Given the description of an element on the screen output the (x, y) to click on. 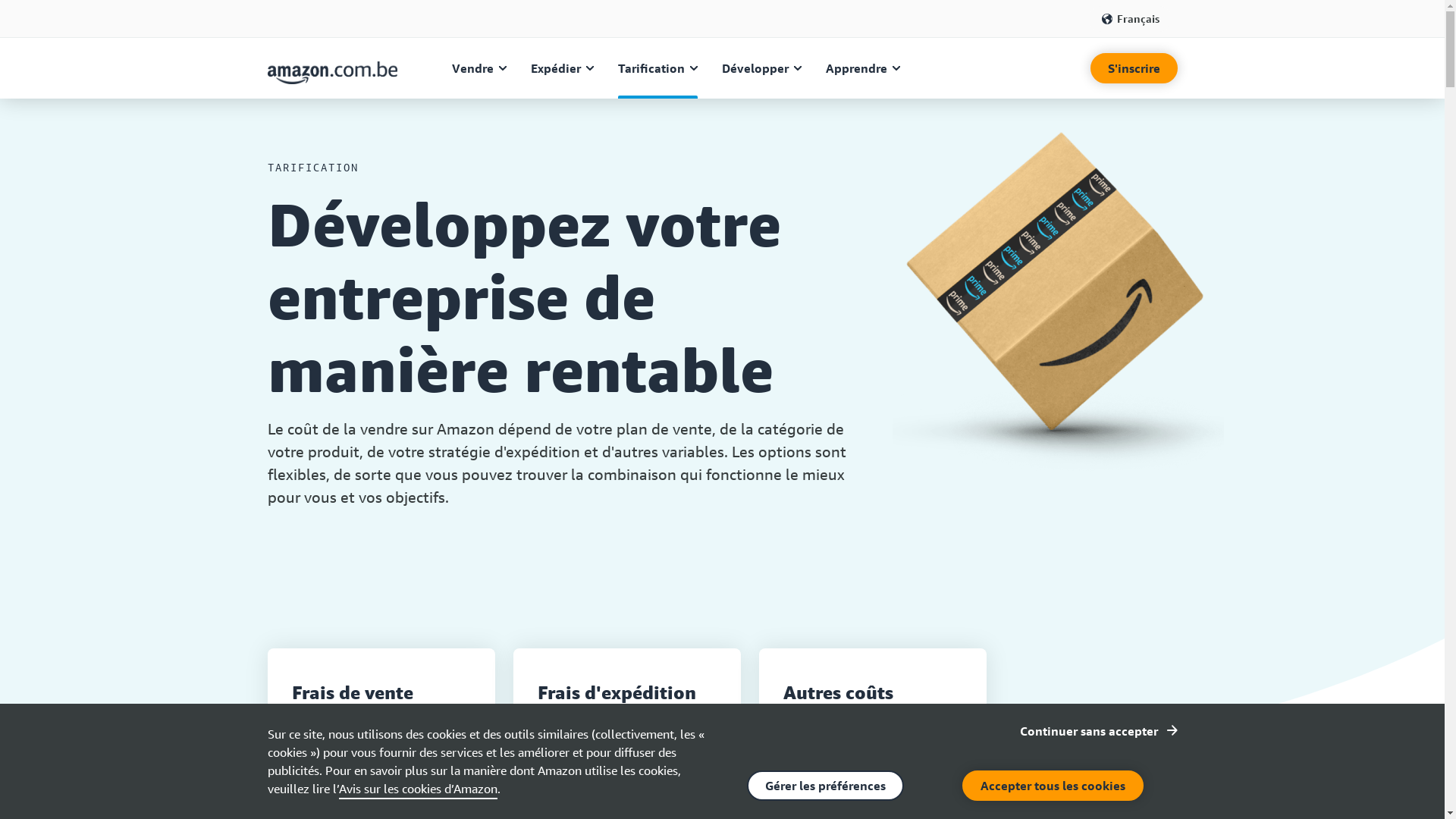
Accepter tous les cookies Element type: text (1051, 785)
S'inscrire Element type: text (1133, 68)
Vendre Element type: text (478, 67)
Tarification Element type: text (657, 67)
Laten we het over de kosten hebben Element type: hover (1057, 302)
Continuer sans accepter Element type: text (1097, 730)
Apprendre Element type: text (862, 67)
